Given the description of an element on the screen output the (x, y) to click on. 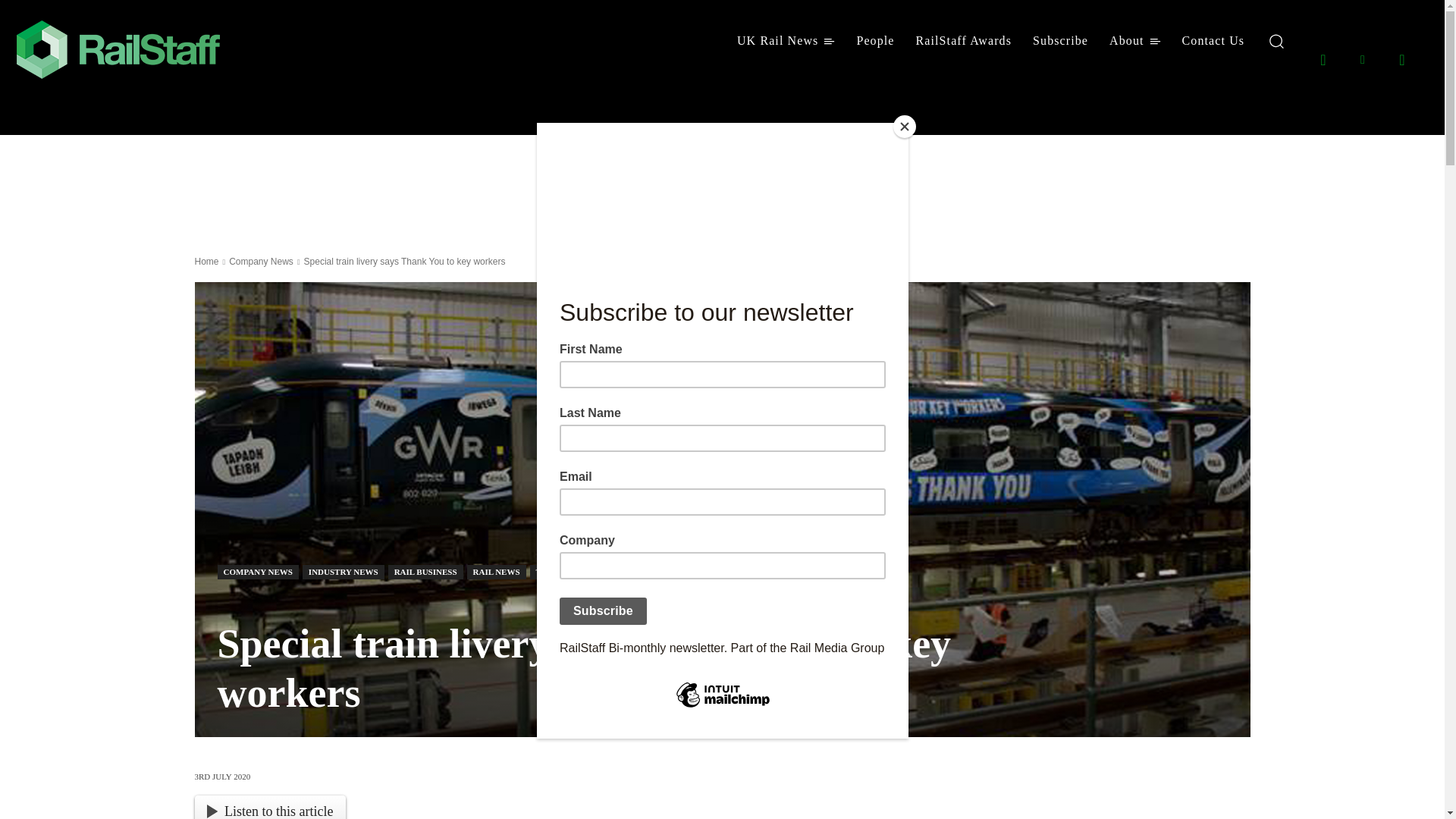
People (874, 40)
View all posts in Company News (261, 261)
3rd party ad content (682, 183)
Twitter (1401, 58)
UK Rail News (785, 40)
Facebook (1322, 58)
Linkedin (1361, 58)
